Given the description of an element on the screen output the (x, y) to click on. 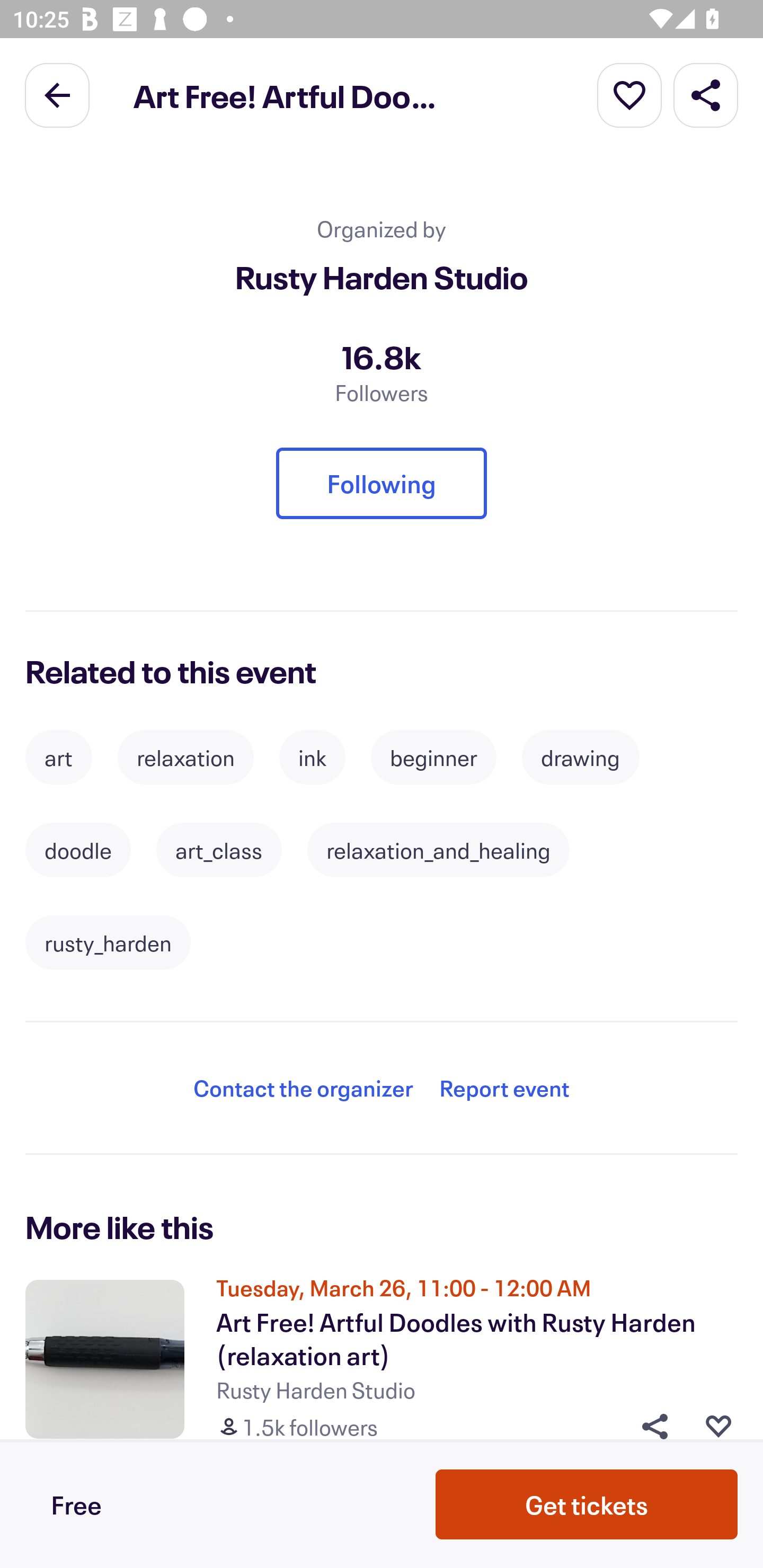
Back (57, 94)
More (629, 94)
Share (705, 94)
Rusty Harden Studio (381, 276)
Following (381, 483)
art (58, 756)
relaxation (185, 756)
ink (312, 756)
beginner (433, 756)
drawing (580, 756)
doodle (78, 850)
art_class (218, 850)
relaxation_and_healing (438, 850)
rusty_harden (107, 942)
Contact the organizer (303, 1087)
Report event (504, 1087)
Share (648, 1425)
Like (718, 1425)
Get tickets (586, 1504)
